Given the description of an element on the screen output the (x, y) to click on. 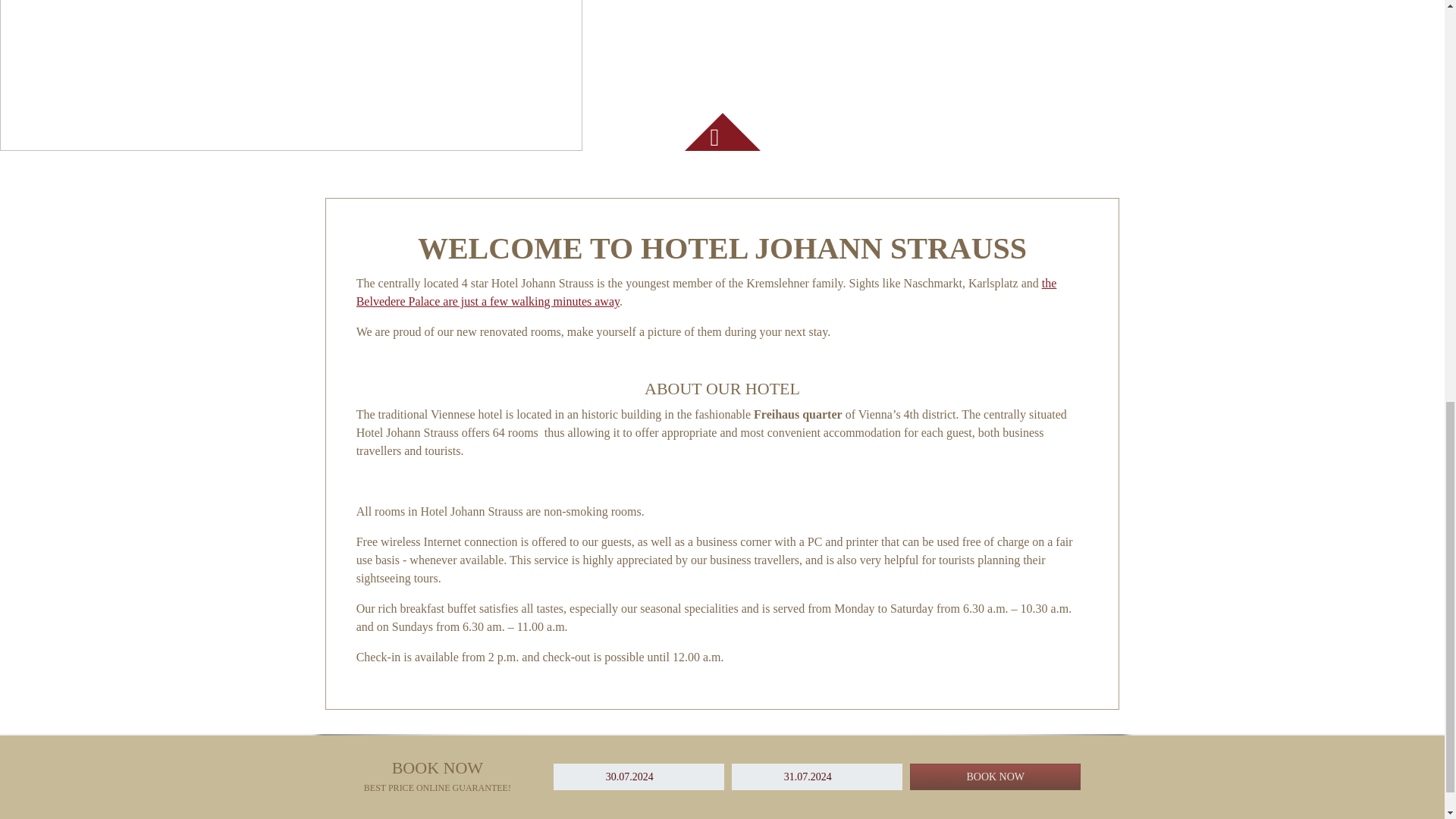
30.07.2024 (638, 776)
31.07.2024 (817, 776)
